Given the description of an element on the screen output the (x, y) to click on. 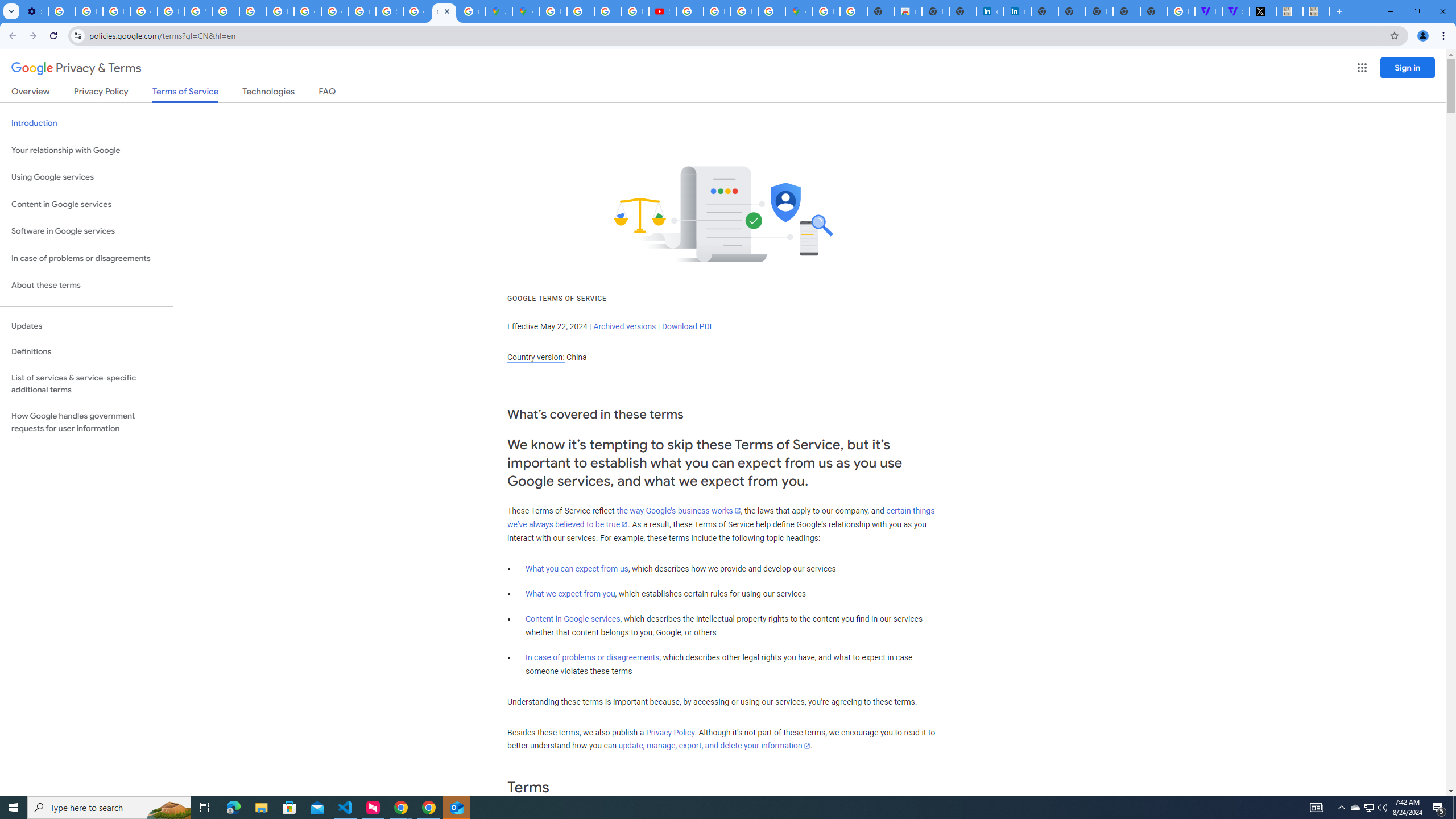
Blogger Policies and Guidelines - Transparency Center (553, 11)
New Tab (1153, 11)
Sign in - Google Accounts (389, 11)
Google Maps (525, 11)
